Given the description of an element on the screen output the (x, y) to click on. 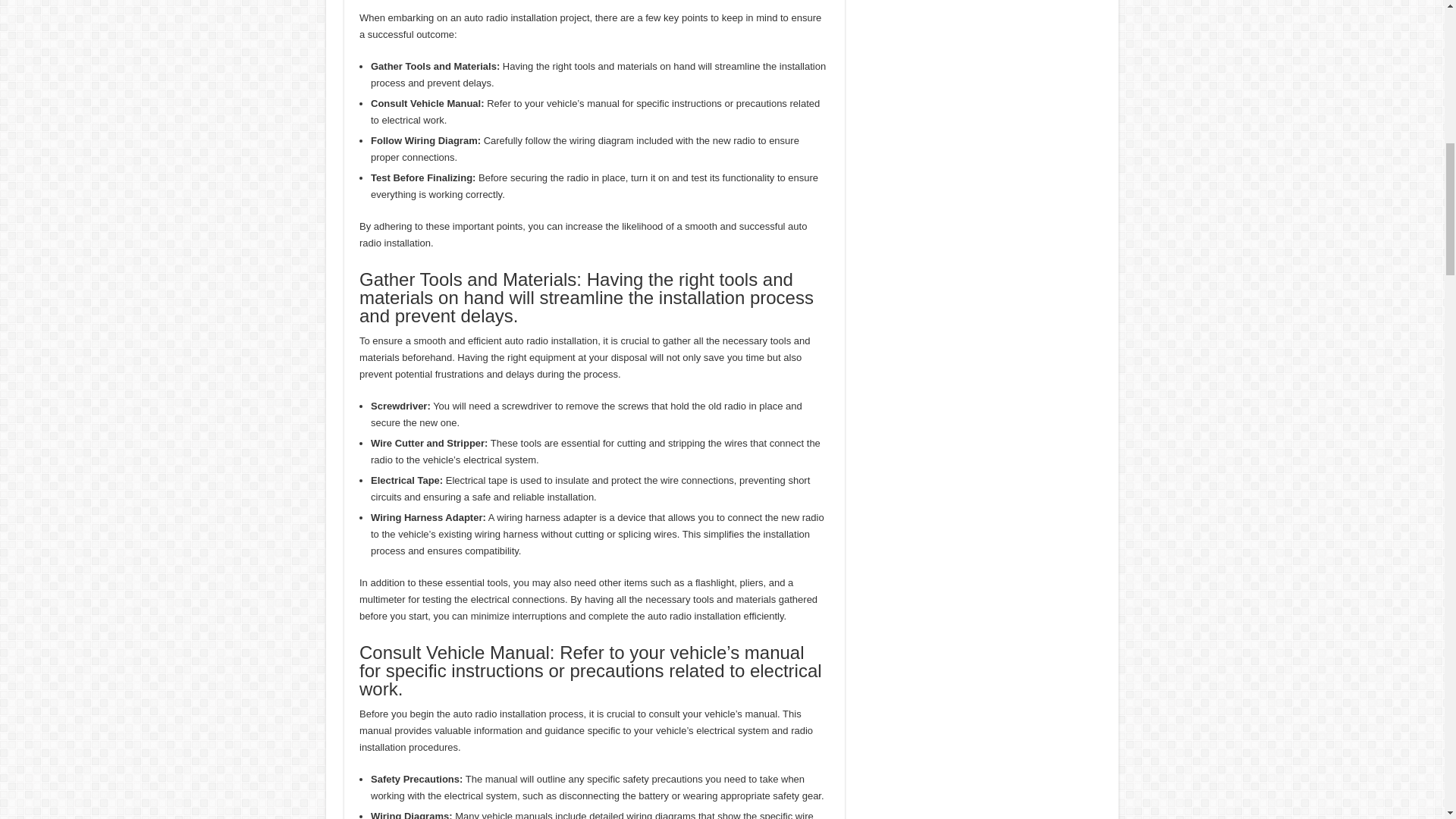
Scroll To Top (1421, 60)
